Given the description of an element on the screen output the (x, y) to click on. 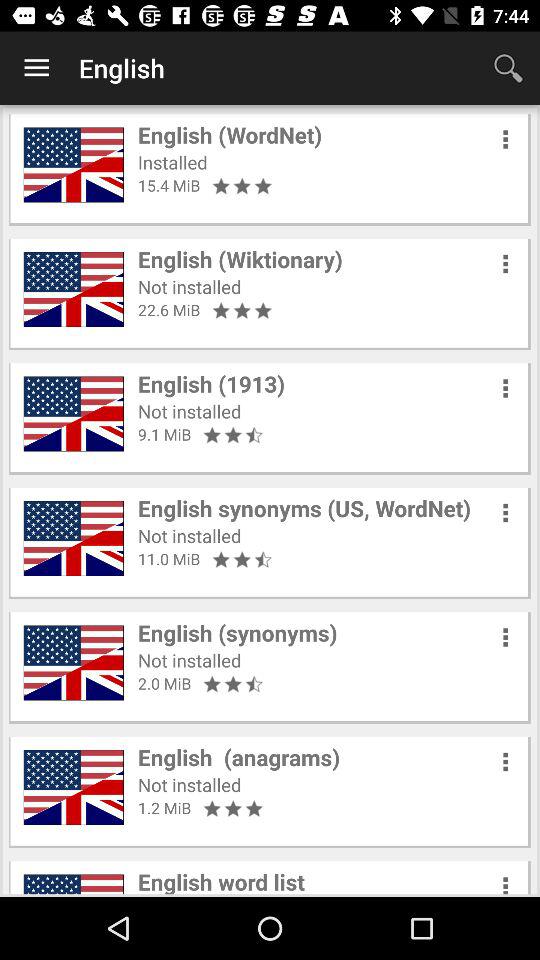
turn off the item next to english icon (36, 68)
